Given the description of an element on the screen output the (x, y) to click on. 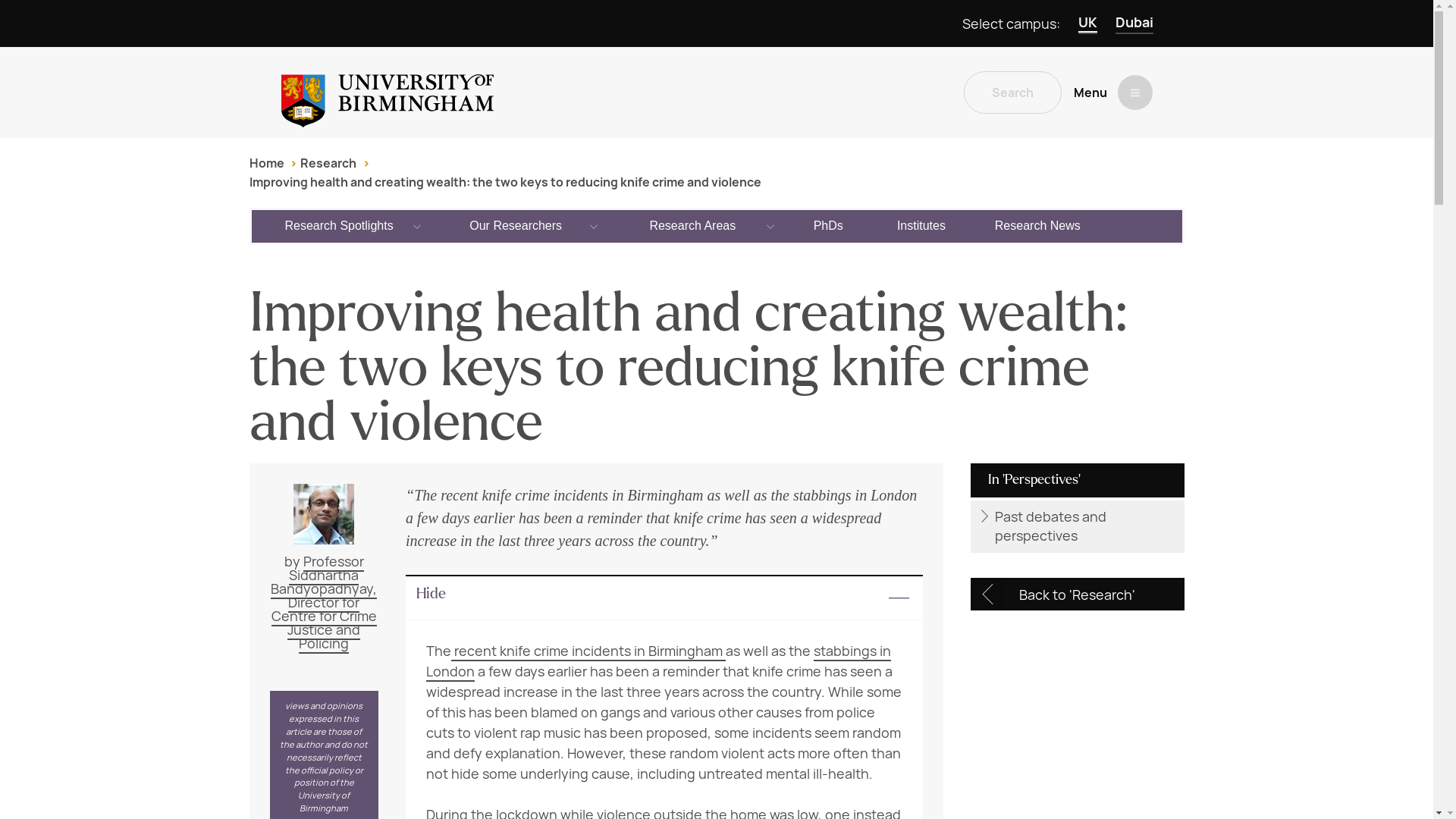
Research (327, 162)
Research Spotlights (339, 225)
Dubai (1134, 23)
Home (265, 162)
Search (1012, 92)
Our Researchers (516, 225)
Research Areas (693, 225)
UK (1087, 23)
